Given the description of an element on the screen output the (x, y) to click on. 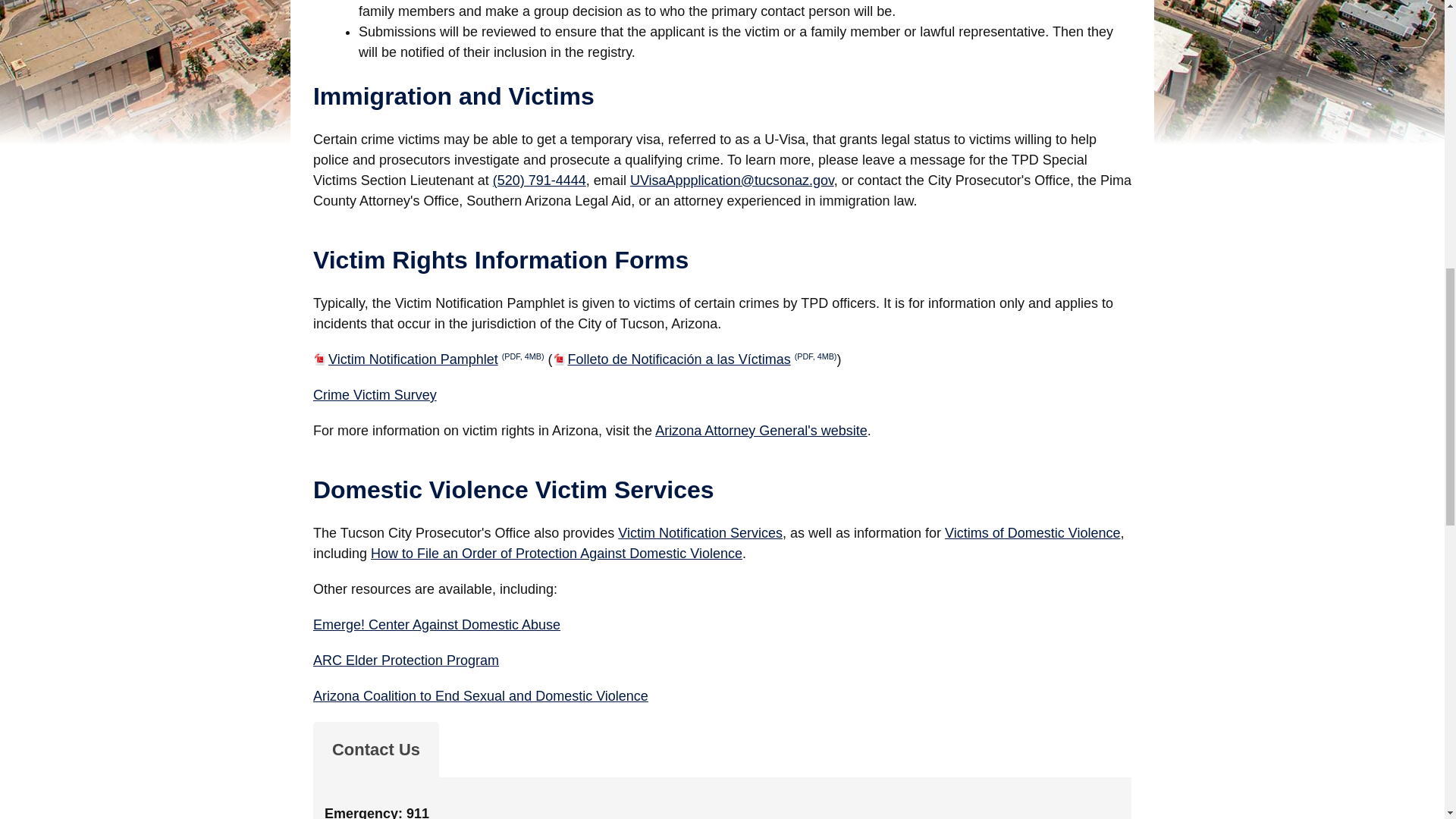
Victim Information Portal brochure (428, 359)
VINE-Spanish.pdf (695, 359)
